Given the description of an element on the screen output the (x, y) to click on. 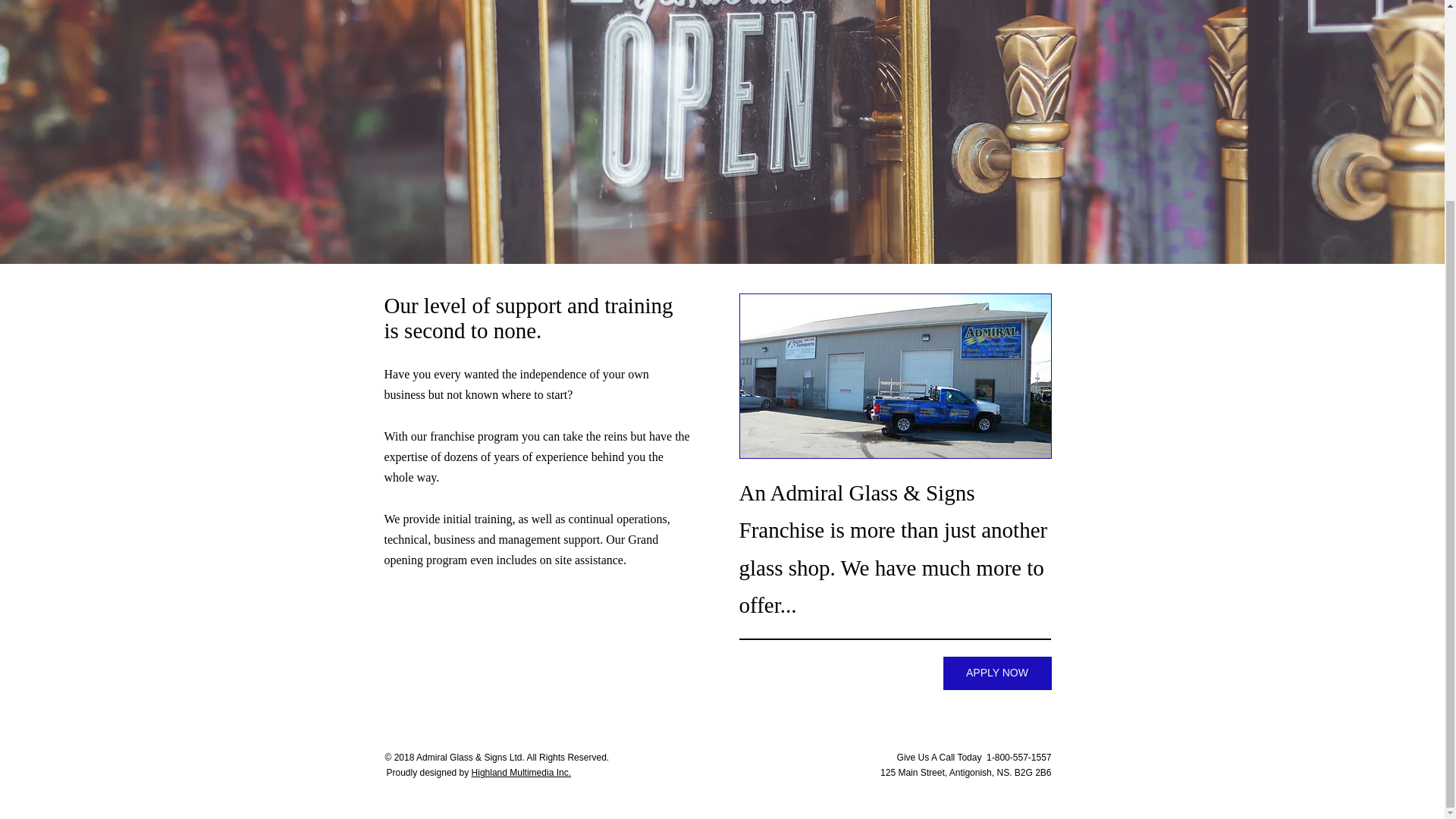
APPLY NOW (997, 673)
Highland Multimedia Inc. (520, 772)
Give Us A Call Today  1-800-557-1557 (973, 757)
